Given the description of an element on the screen output the (x, y) to click on. 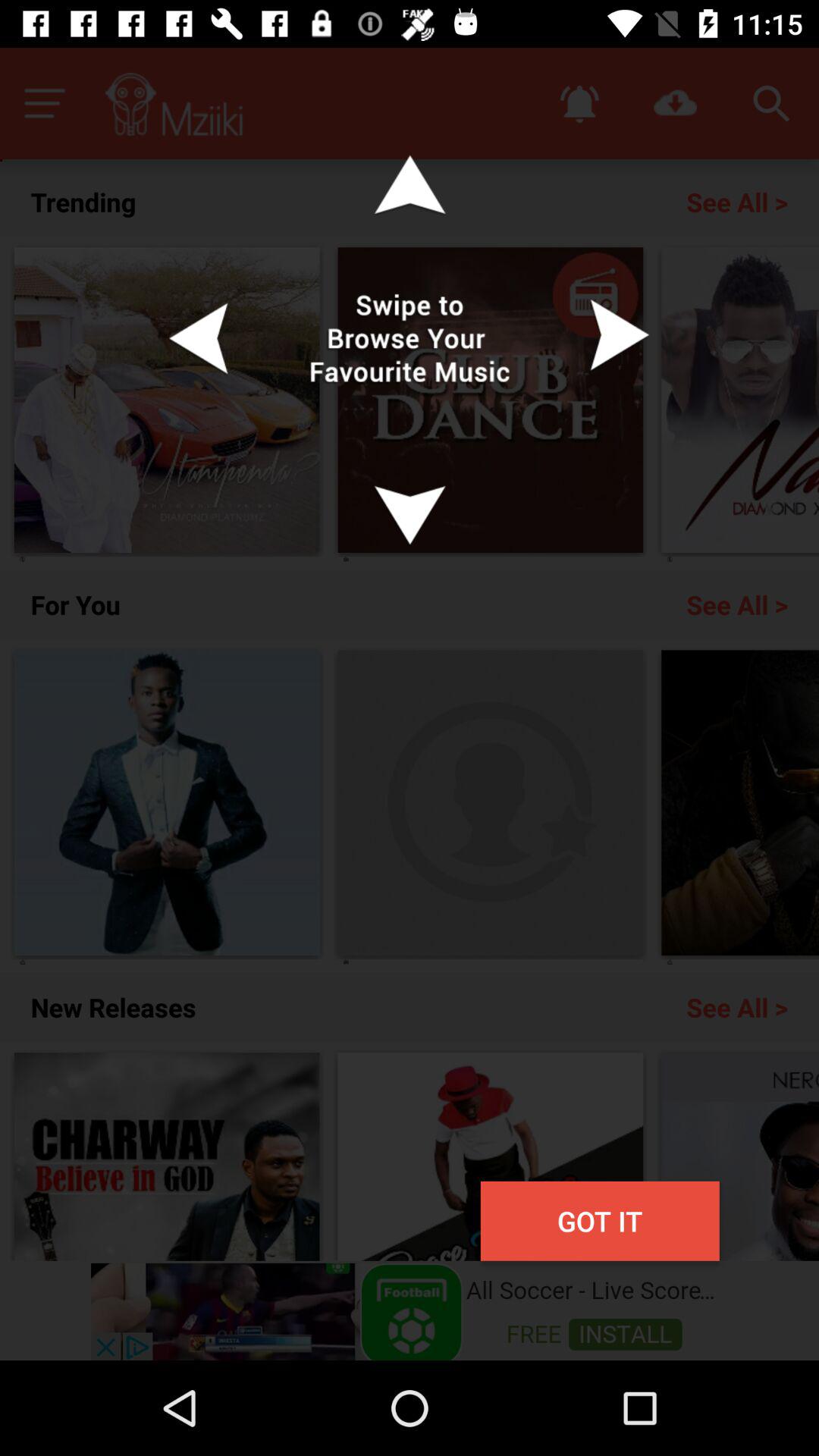
tap got it button (599, 1220)
